Given the description of an element on the screen output the (x, y) to click on. 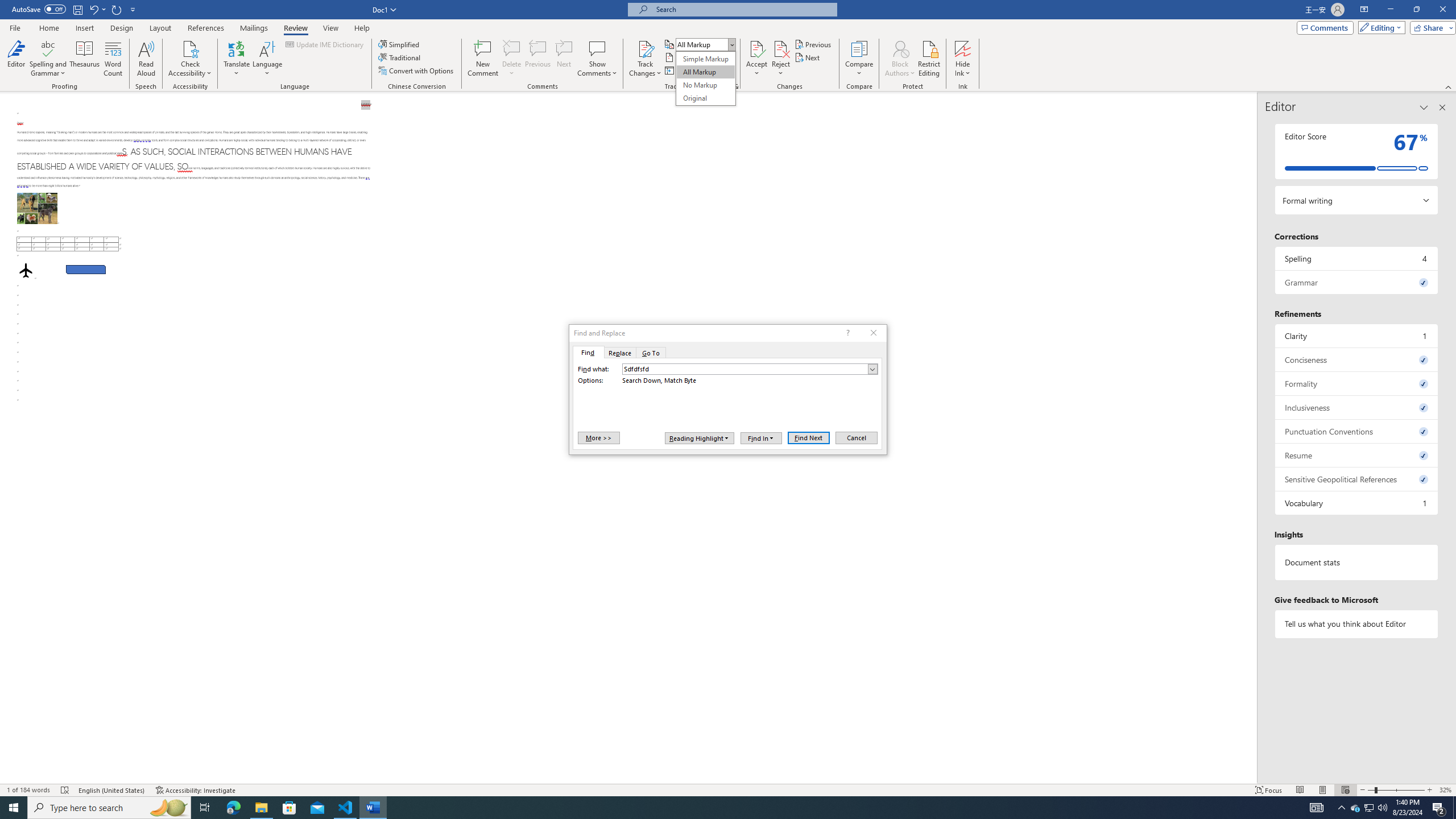
User Promoted Notification Area (1368, 807)
Microsoft Edge (233, 807)
Context help (847, 333)
Find what: (749, 369)
Type here to search (108, 807)
Visual Studio Code - 1 running window (345, 807)
Q2790: 100% (1382, 807)
Microsoft Store (289, 807)
Running applications (717, 807)
RichEdit Control (745, 369)
AutomationID: 4105 (1355, 807)
Show desktop (1316, 807)
Task View (1454, 807)
